Given the description of an element on the screen output the (x, y) to click on. 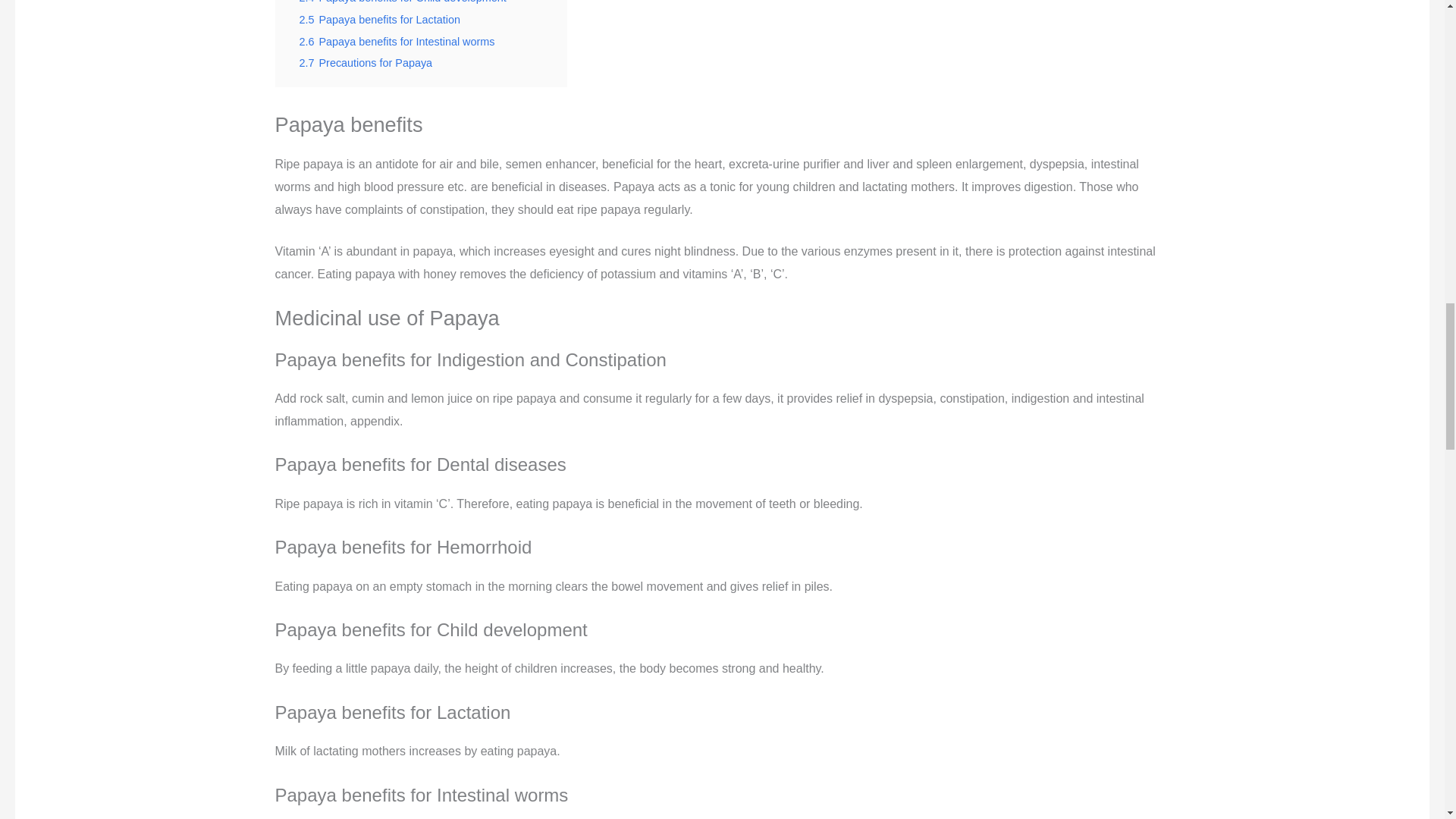
2.5 Papaya benefits for Lactation (379, 19)
2.4 Papaya benefits for Child development (401, 2)
2.6 Papaya benefits for Intestinal worms (396, 41)
2.7 Precautions for Papaya (365, 62)
